Given the description of an element on the screen output the (x, y) to click on. 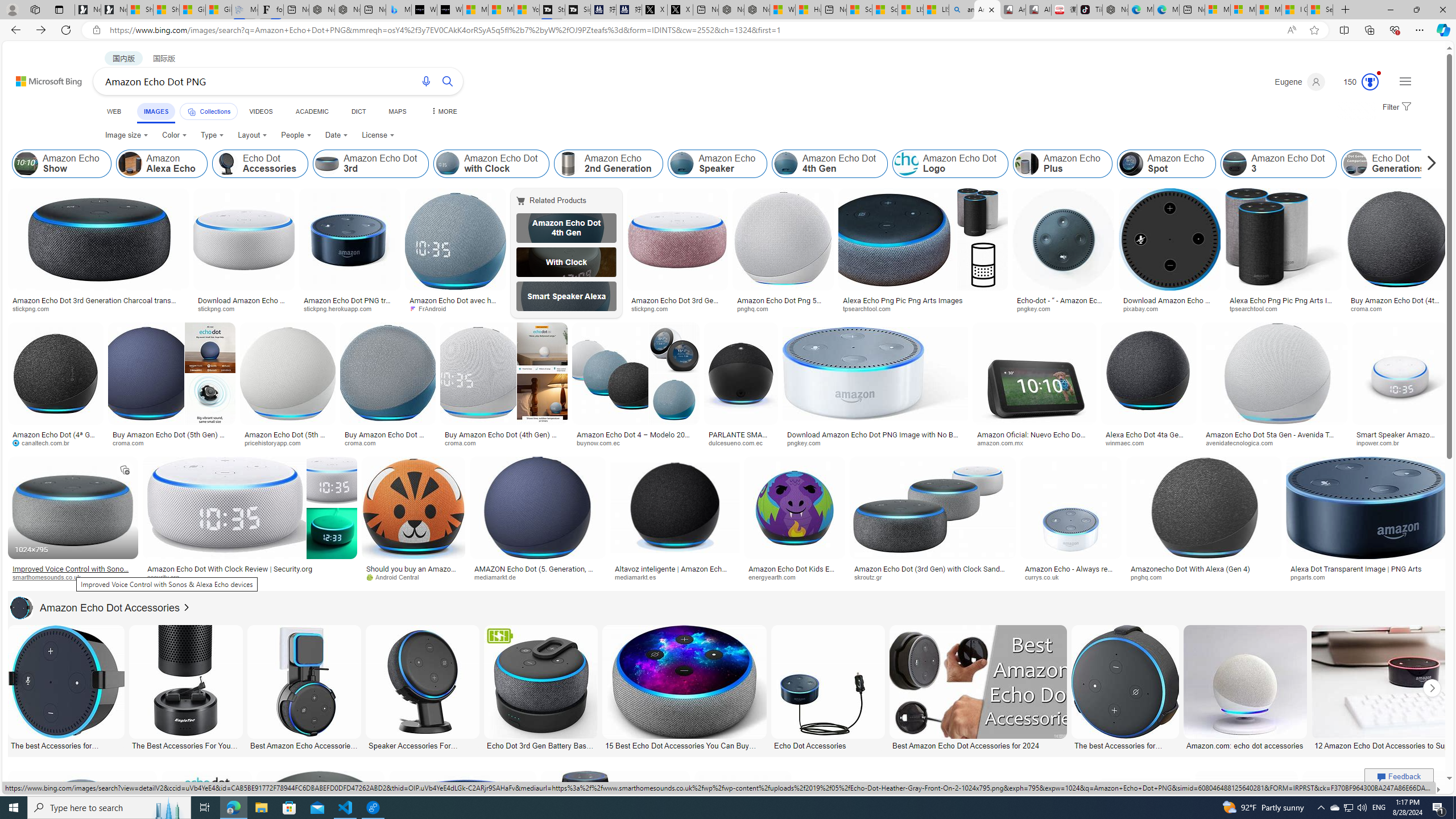
Class: medal-svg-animation (1369, 81)
Best Amazon Echo Dot Accessories for 2024 (976, 744)
Scroll right (1428, 163)
